Given the description of an element on the screen output the (x, y) to click on. 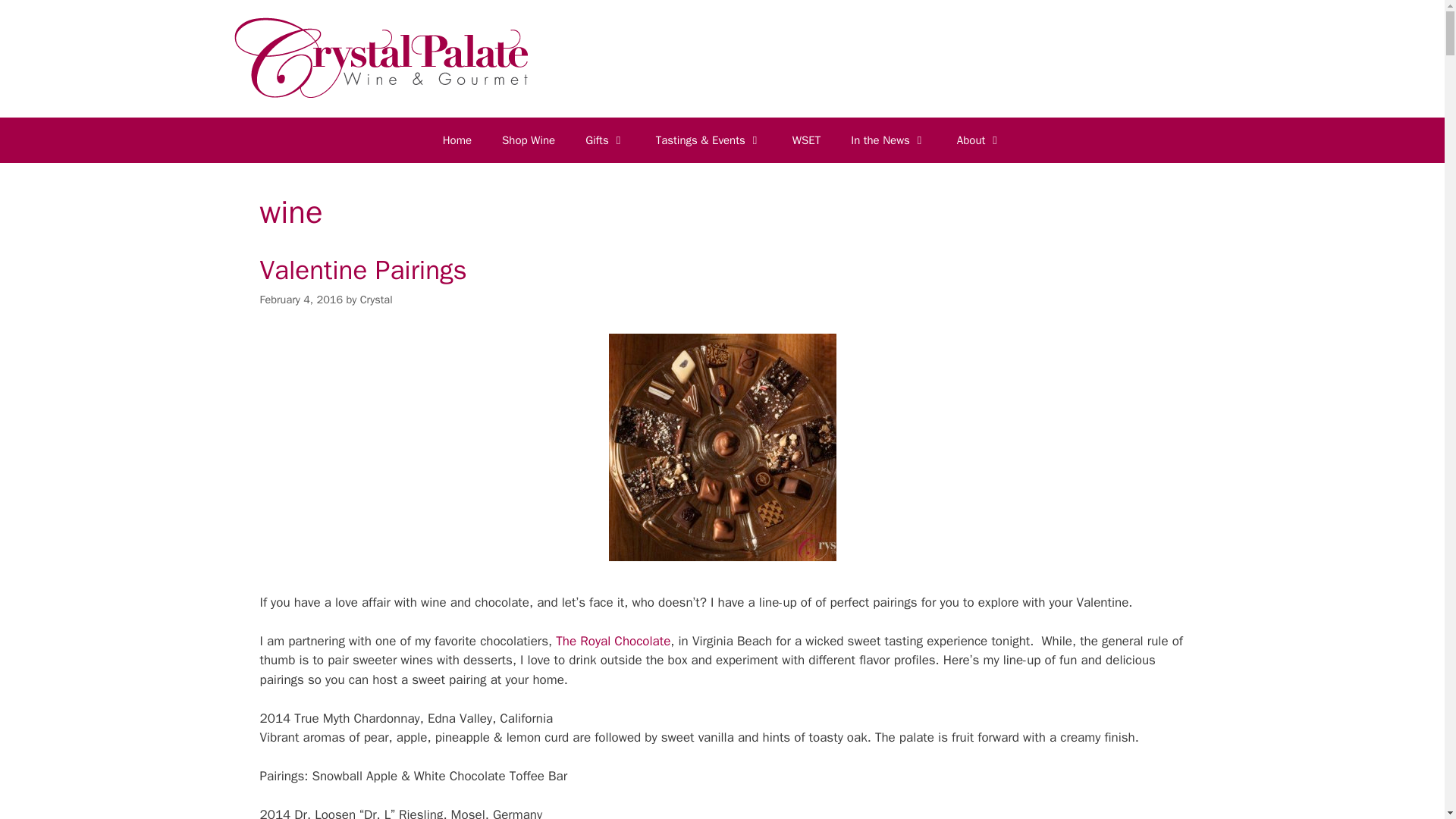
View all posts by Crystal (376, 299)
About (979, 139)
Valentine Pairings (362, 269)
Valentine Pairings (721, 556)
Gifts (605, 139)
Home (457, 139)
Crystal (376, 299)
WSET (806, 139)
The Royal Chocolate (612, 641)
In the News (888, 139)
